Given the description of an element on the screen output the (x, y) to click on. 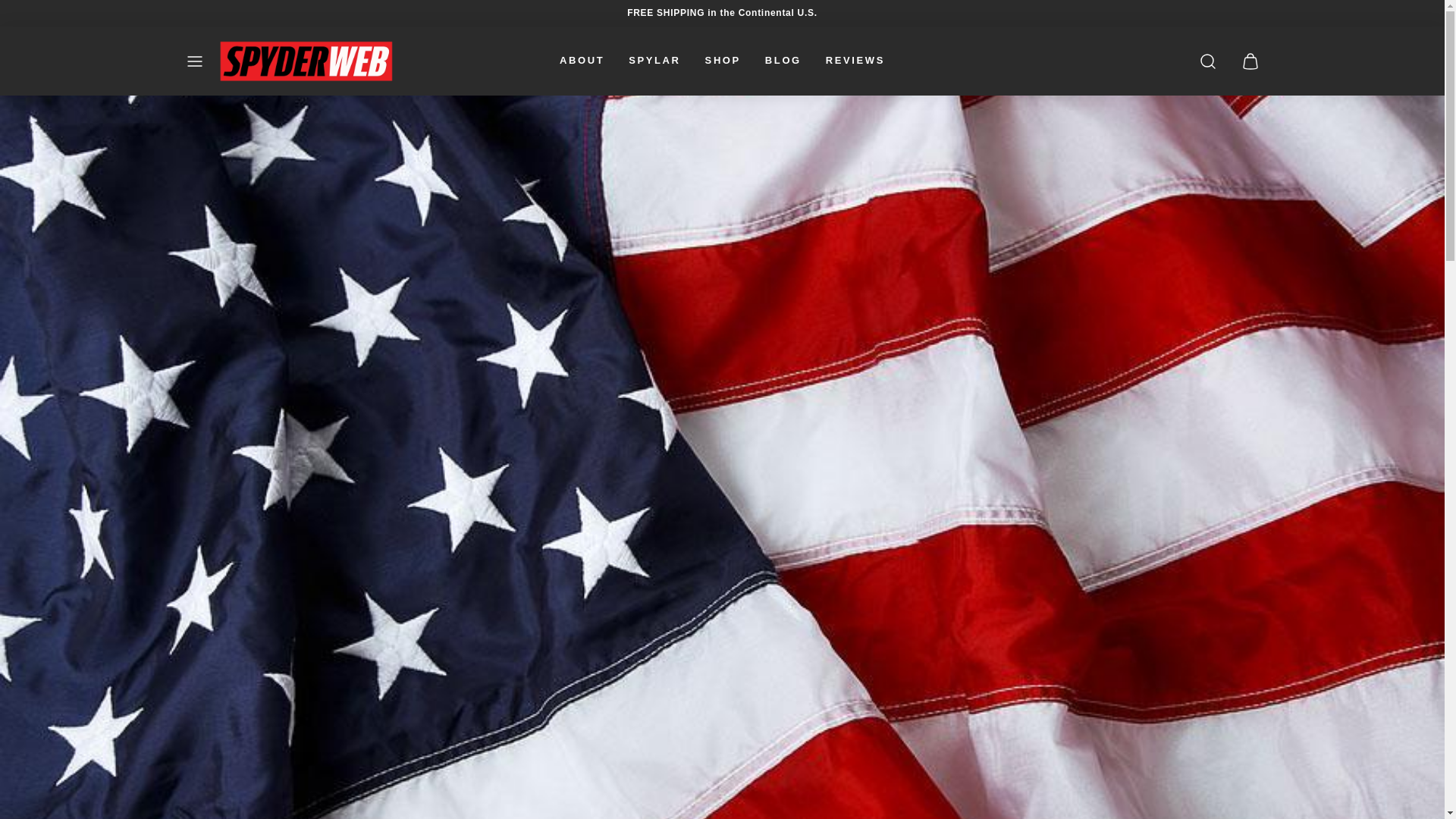
BLOG (782, 60)
MENU (194, 61)
ABOUT (581, 60)
SHOP (722, 60)
SPYLAR (654, 60)
REVIEWS (854, 60)
SEARCH (1207, 61)
